Given the description of an element on the screen output the (x, y) to click on. 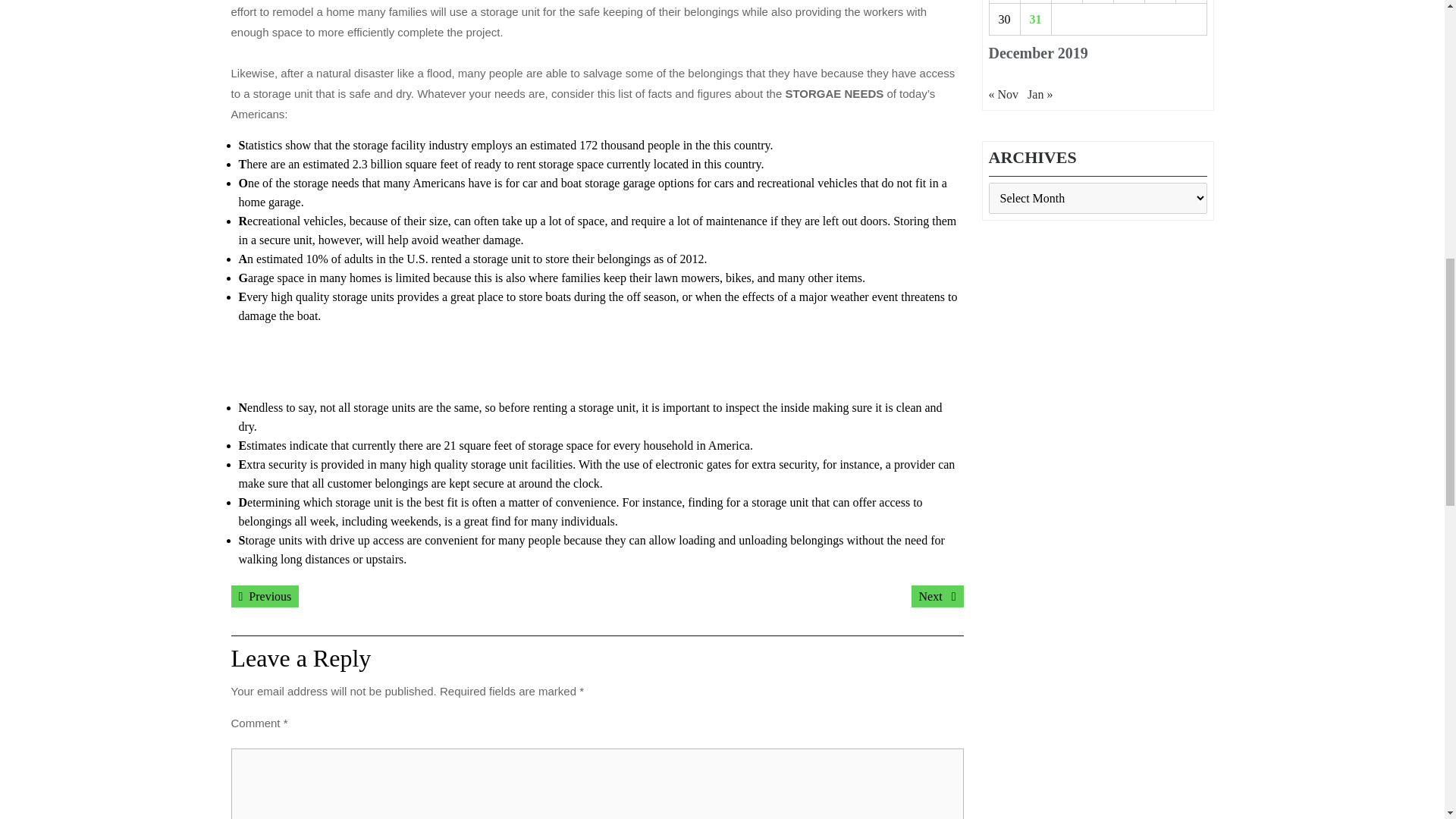
31 (264, 596)
